Given the description of an element on the screen output the (x, y) to click on. 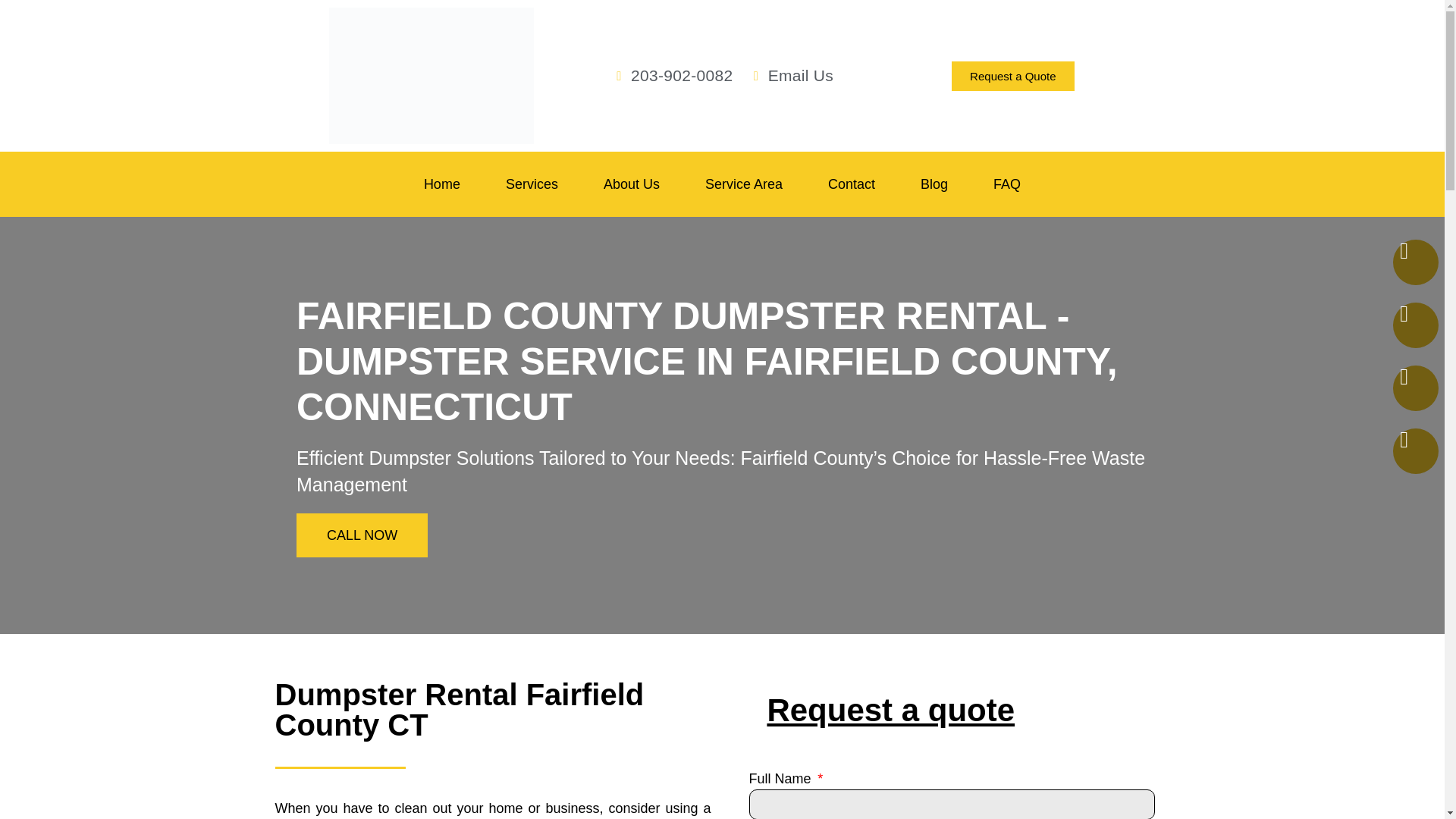
Blog (933, 184)
Request a Quote (1013, 75)
203-902-0082 (672, 75)
Services (531, 184)
FAQ (1006, 184)
Service Area (743, 184)
Contact (850, 184)
Home (442, 184)
Email Us (790, 75)
About Us (631, 184)
